Given the description of an element on the screen output the (x, y) to click on. 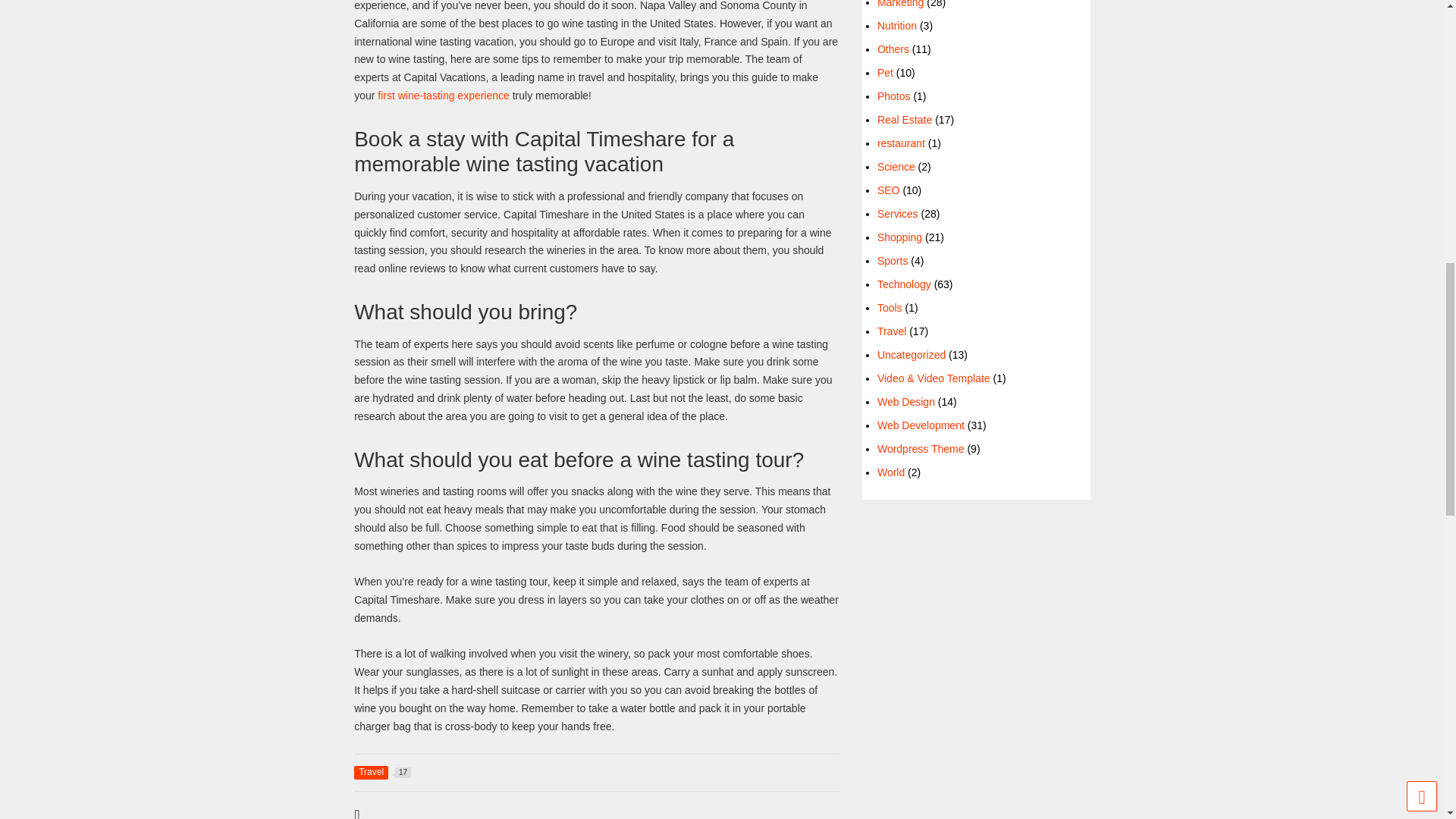
first wine-tasting experience (443, 95)
